Given the description of an element on the screen output the (x, y) to click on. 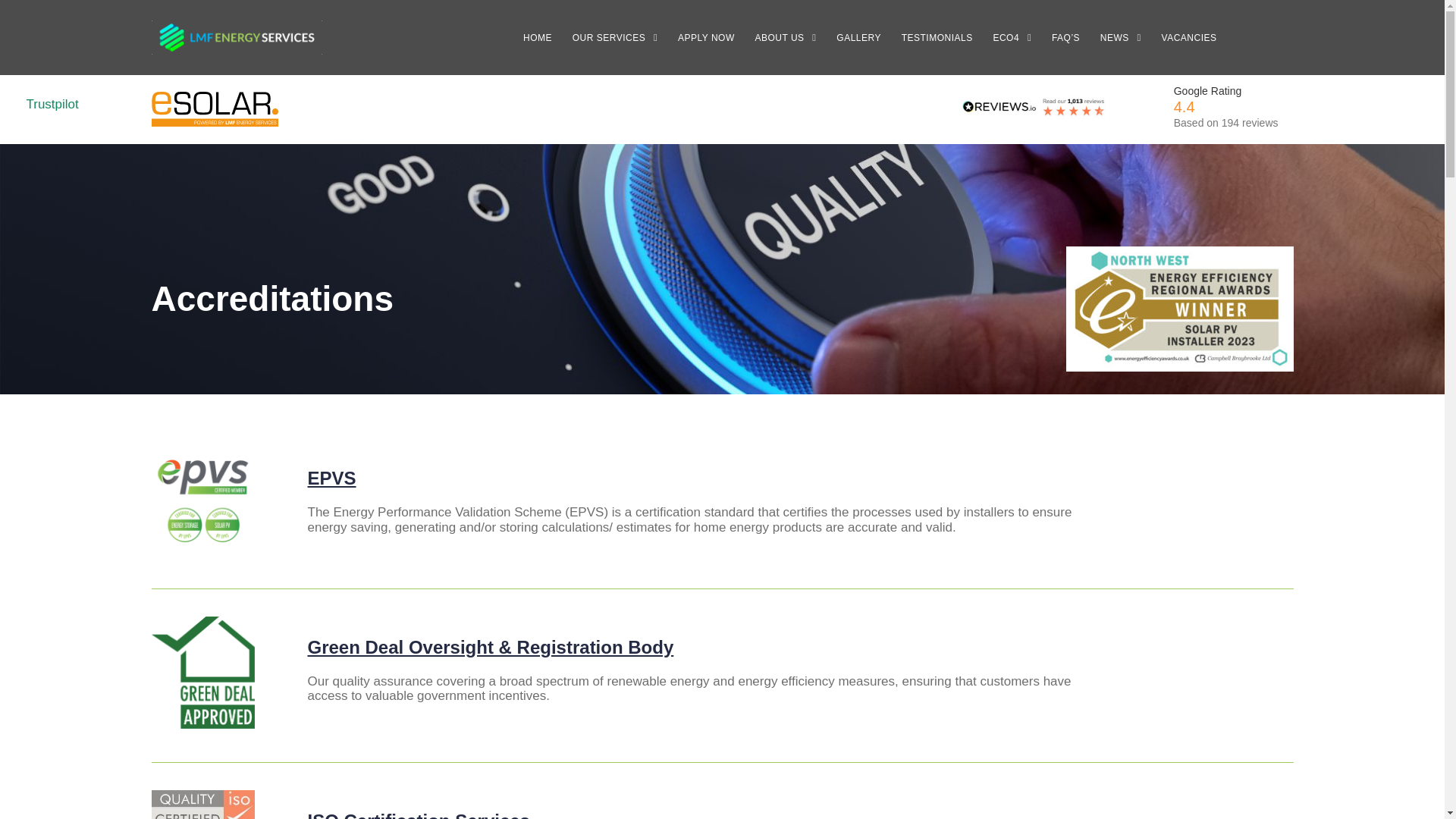
OUR SERVICES (608, 37)
ABOUT US (778, 37)
NEWS (1114, 37)
HOME (536, 37)
VACANCIES (1189, 37)
ECO4 (1005, 37)
APPLY NOW (706, 37)
TESTIMONIALS (936, 37)
GALLERY (857, 37)
